Given the description of an element on the screen output the (x, y) to click on. 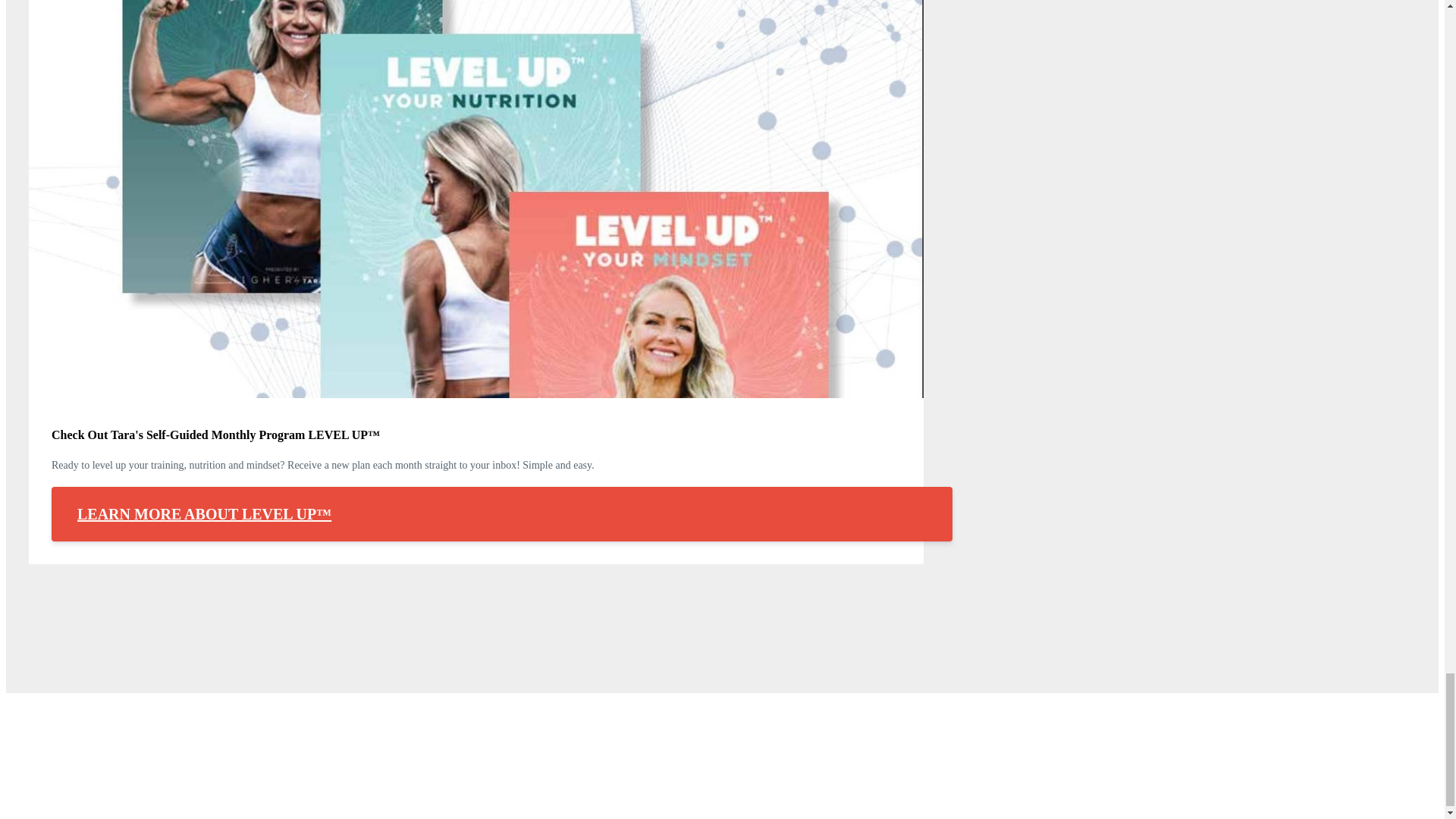
Terms (852, 731)
Privacy (904, 731)
